Given the description of an element on the screen output the (x, y) to click on. 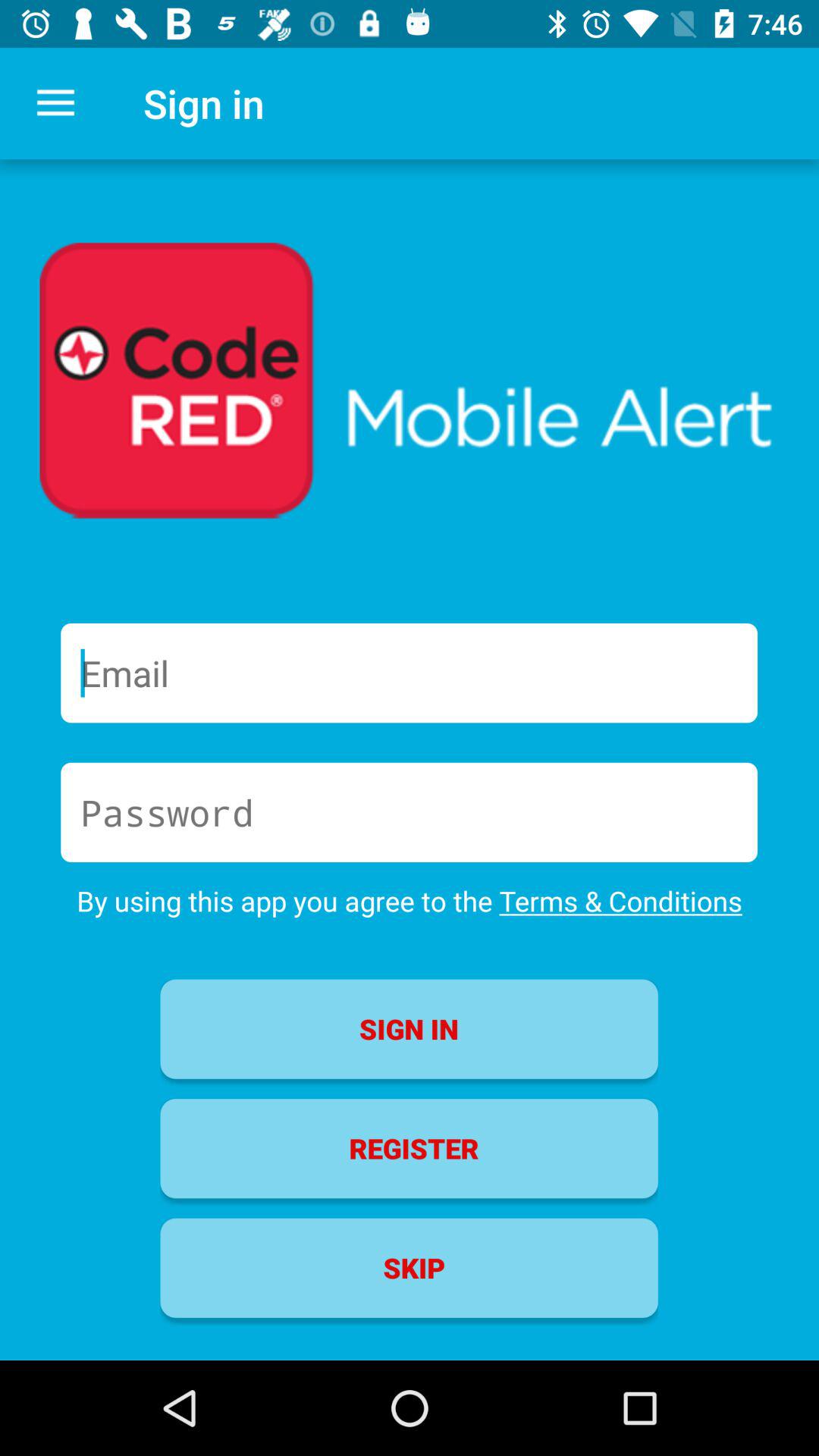
select the icon next to the sign in icon (55, 103)
